Given the description of an element on the screen output the (x, y) to click on. 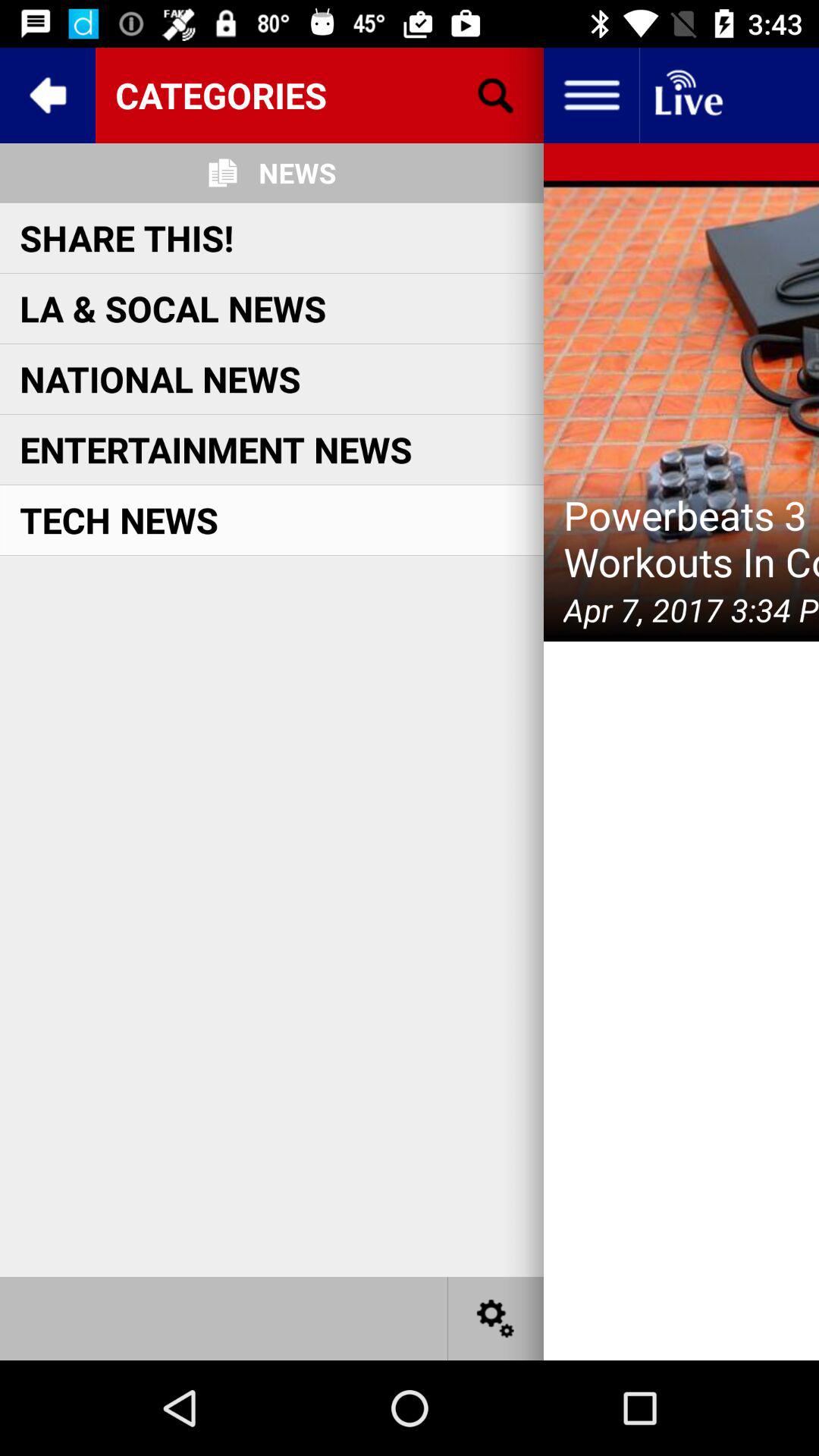
click the item on the left (118, 519)
